Given the description of an element on the screen output the (x, y) to click on. 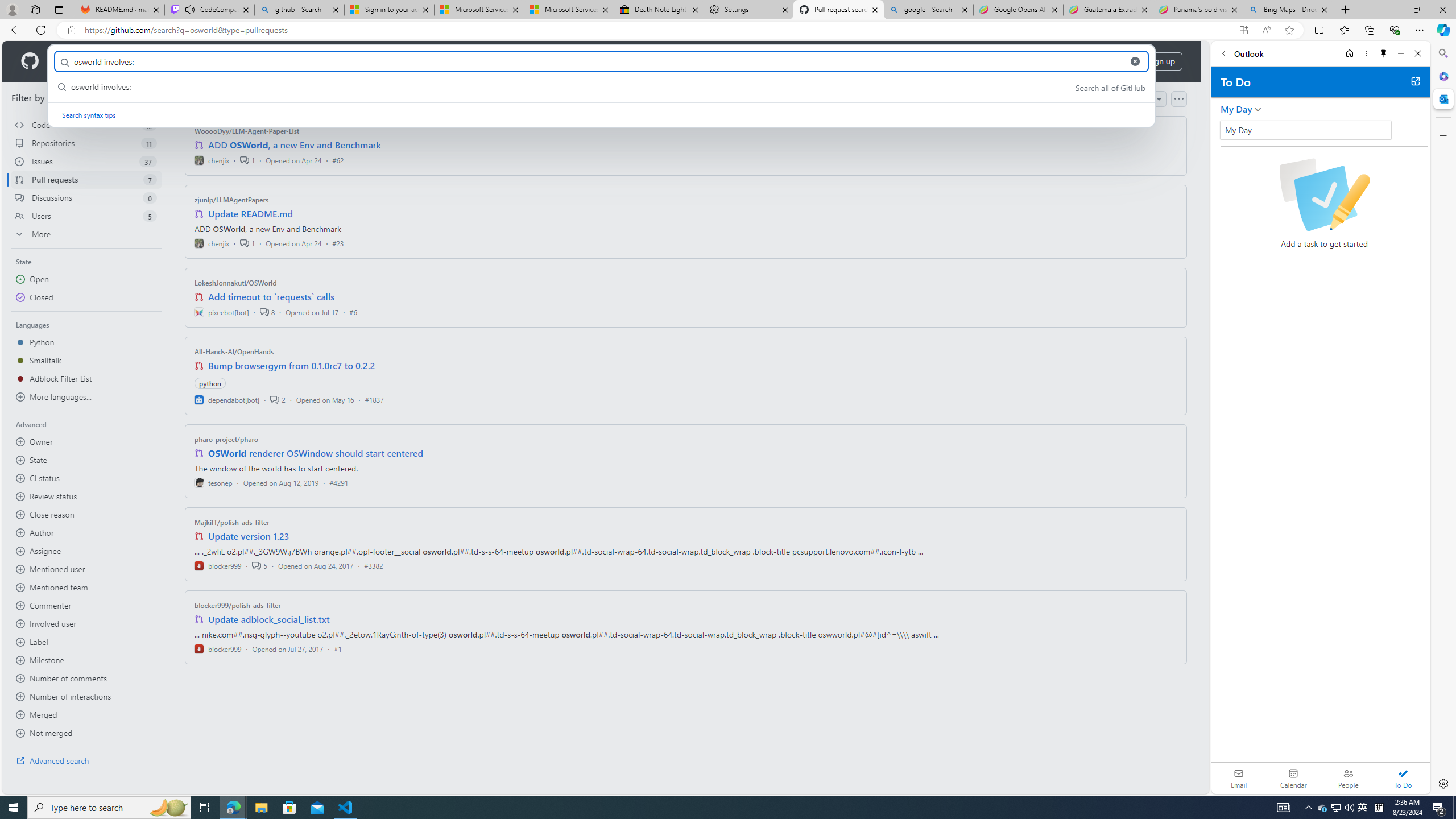
To Do (1402, 777)
Checkbox with a pencil (1324, 194)
ADD OSWorld, a new Env and Benchmark (294, 144)
Homepage (29, 61)
Email (1238, 777)
